Given the description of an element on the screen output the (x, y) to click on. 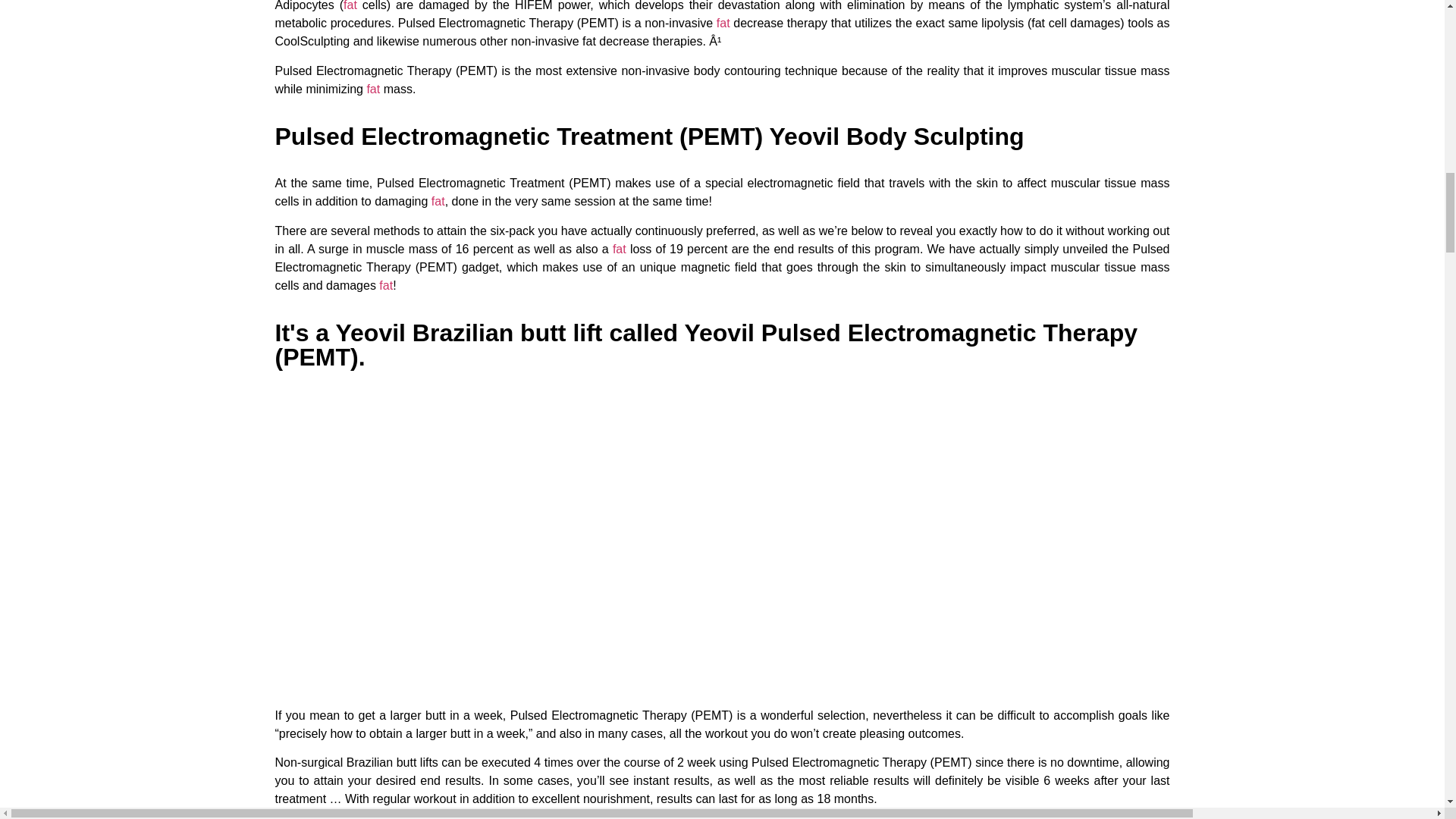
fat (349, 5)
